Given the description of an element on the screen output the (x, y) to click on. 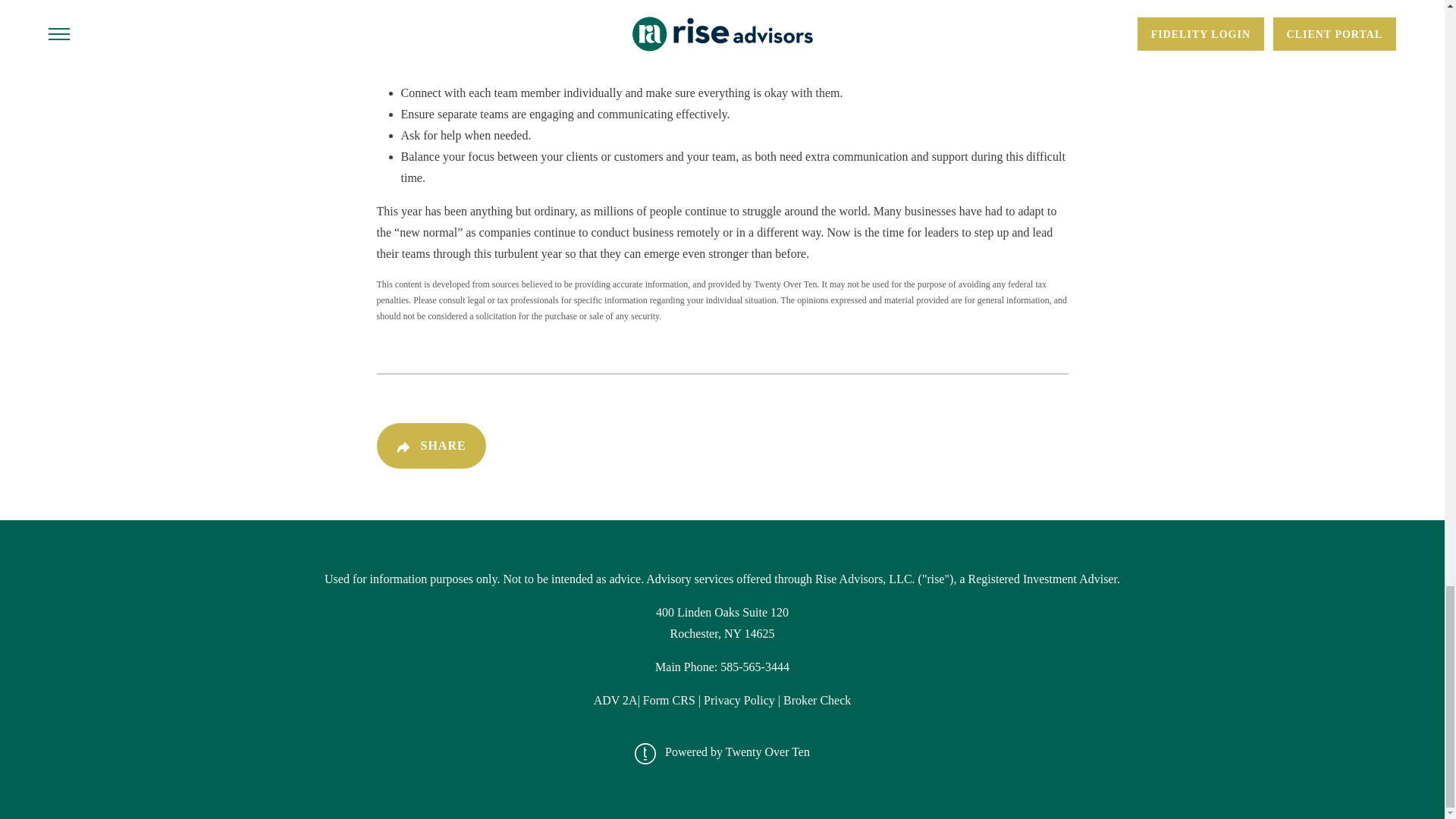
Powered by Twenty Over Ten (728, 752)
Privacy Policy (740, 699)
Form CRS (669, 699)
SHARE (429, 445)
BACK TO NEWS (997, 445)
ADV 2A (615, 699)
Broker Check (816, 699)
